Given the description of an element on the screen output the (x, y) to click on. 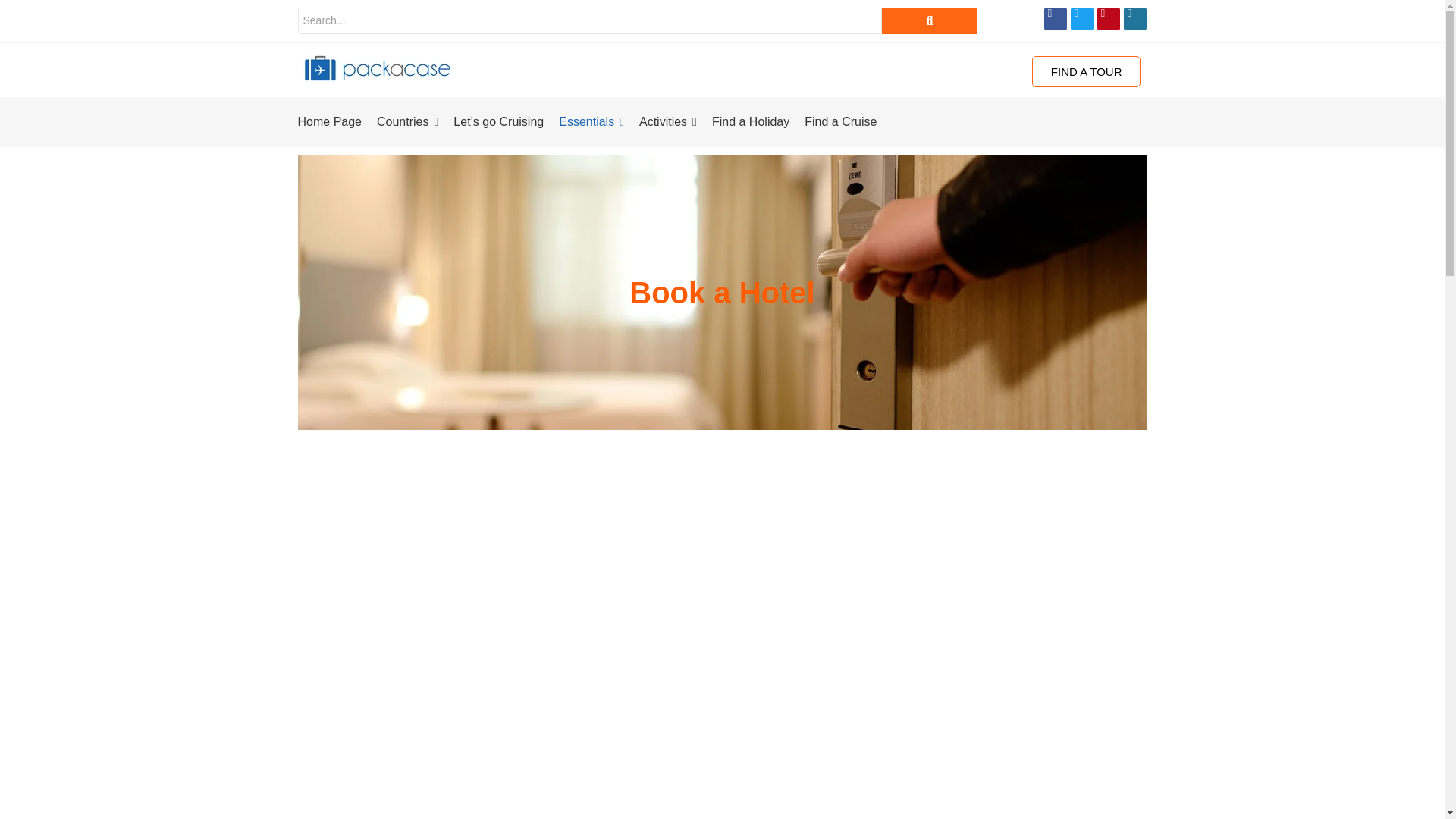
Essentials (591, 121)
Search (589, 20)
FIND A TOUR (1086, 71)
Countries (407, 121)
Home Page (329, 121)
